Given the description of an element on the screen output the (x, y) to click on. 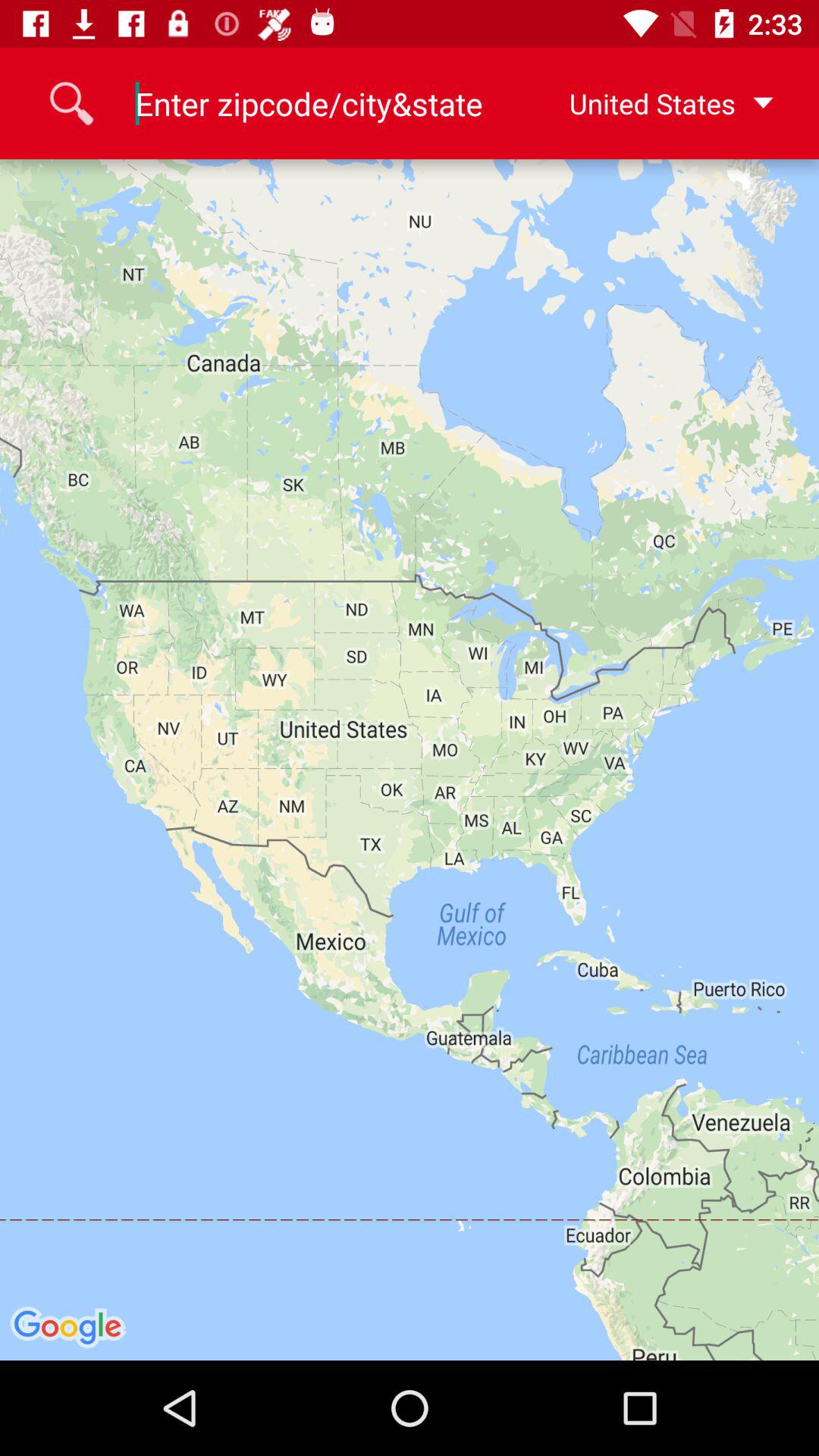
choose the icon at the center (409, 759)
